Given the description of an element on the screen output the (x, y) to click on. 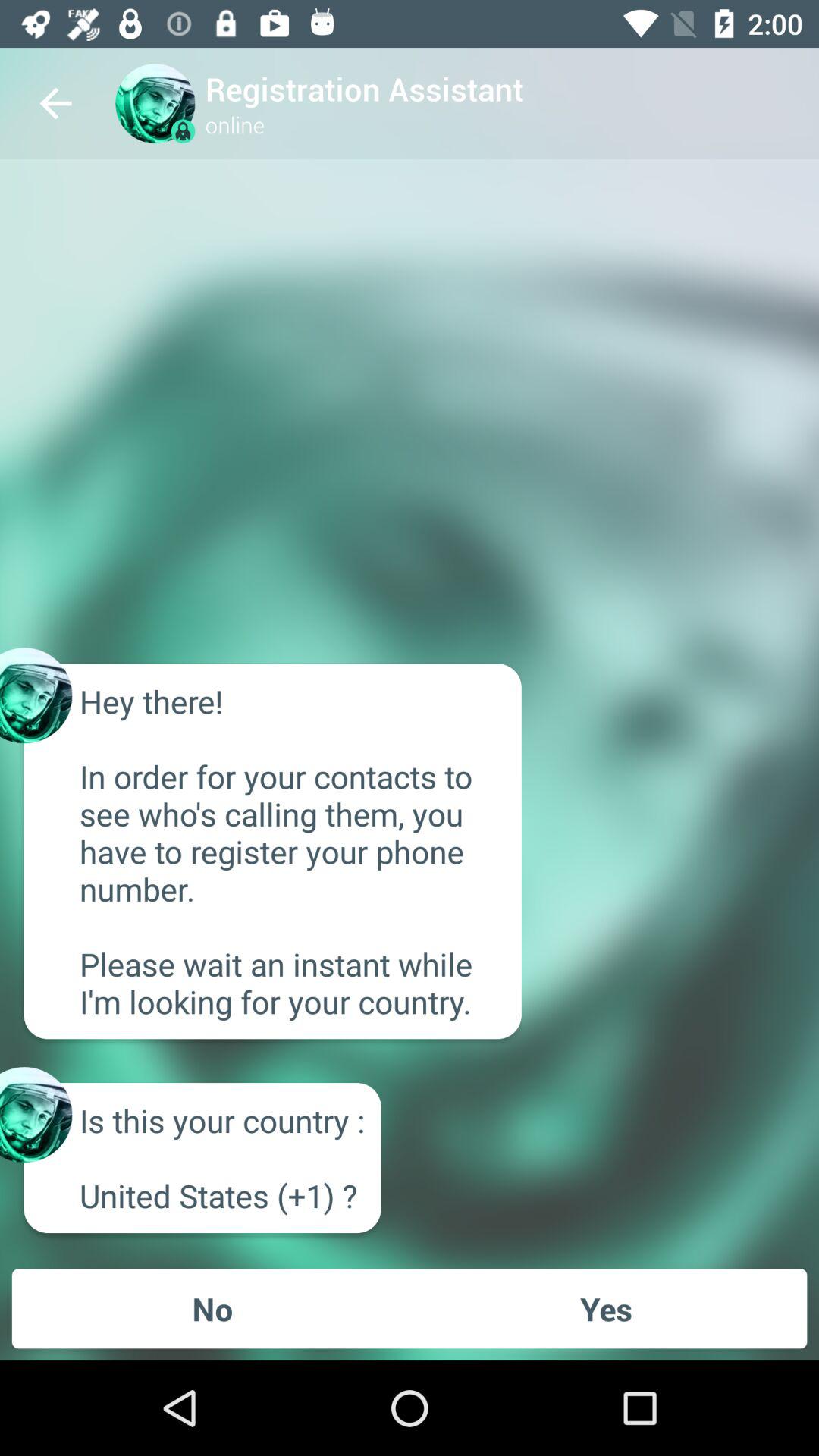
turn off icon below the hey there in item (606, 1308)
